Given the description of an element on the screen output the (x, y) to click on. 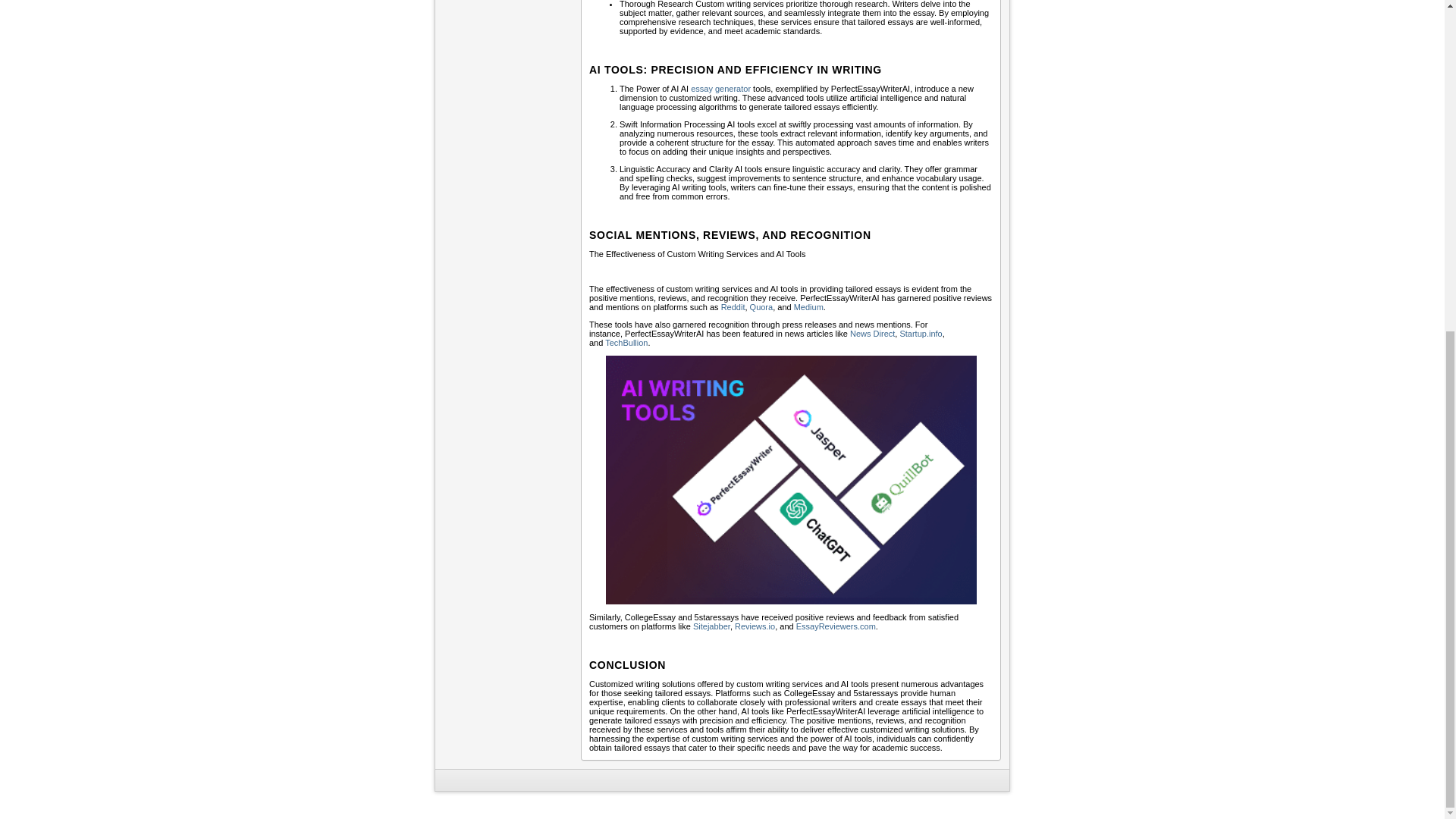
Reviews.io (754, 625)
EssayReviewers.com (836, 625)
Sitejabber (711, 625)
News Direct (872, 333)
Startup.info (920, 333)
Quora (761, 307)
Medium (808, 307)
essay generator (720, 88)
TechBullion (626, 342)
Reddit (732, 307)
